Given the description of an element on the screen output the (x, y) to click on. 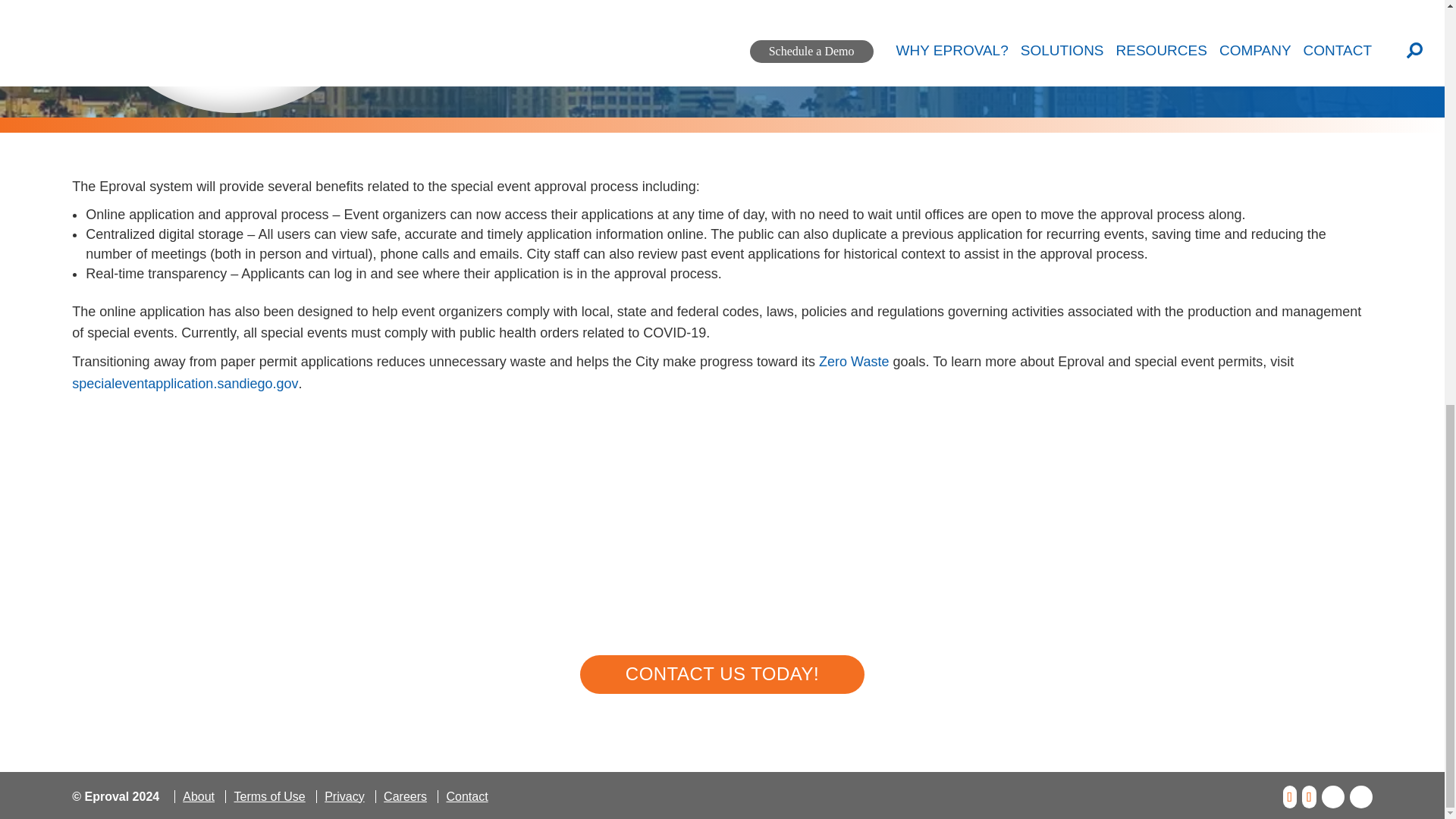
Privacy (343, 796)
Careers (404, 796)
Contact (466, 796)
Terms of Use (269, 796)
specialeventapplication.sandiego.gov (184, 383)
Zero Waste (853, 361)
About (198, 796)
CONTACT US TODAY! (721, 674)
